Given the description of an element on the screen output the (x, y) to click on. 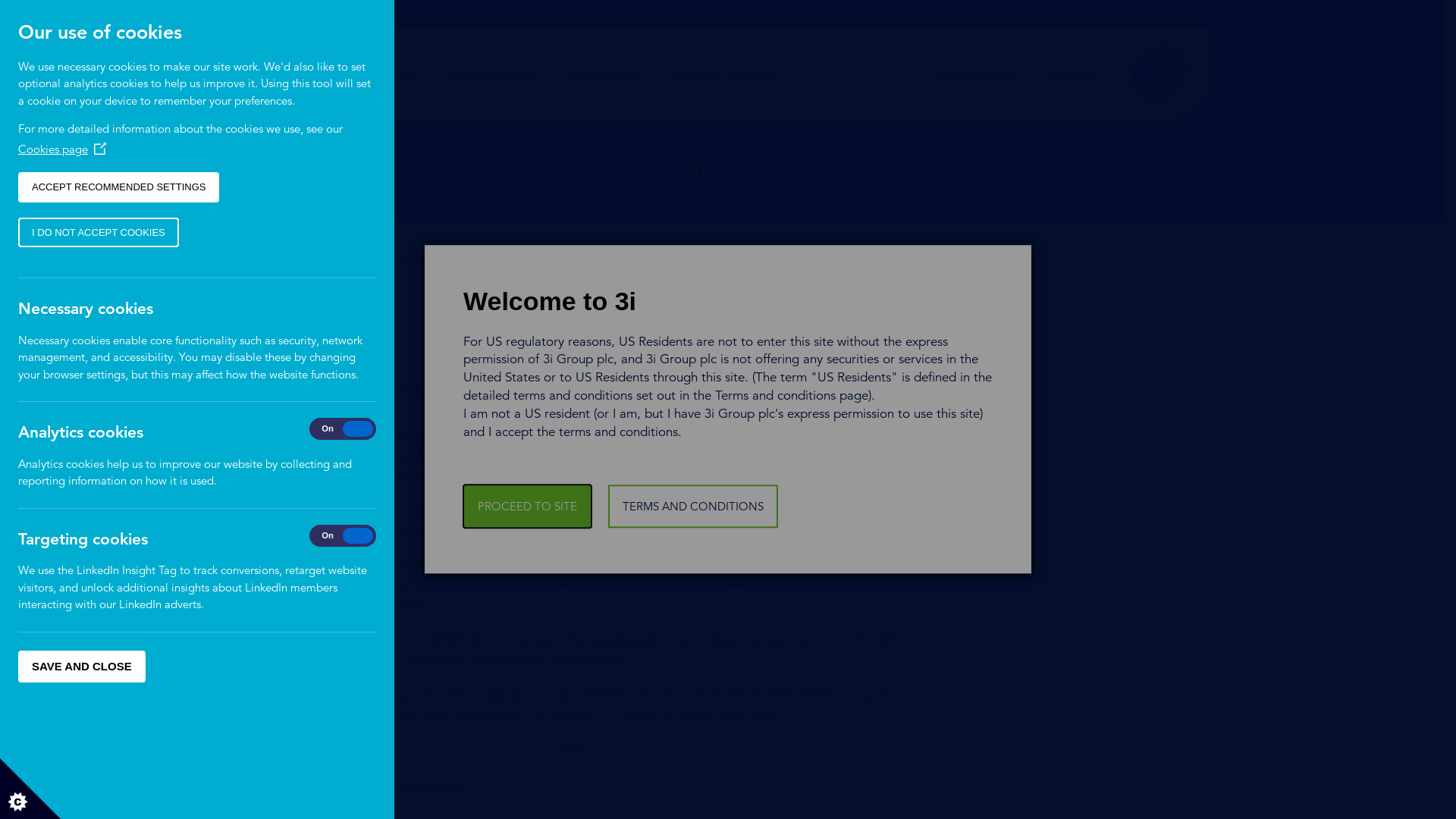
Home Element type: text (244, 257)
Investor relations Element type: text (726, 73)
About us Element type: text (266, 73)
SAVE AND CLOSE Element type: text (81, 666)
Download this press release as PDF Element type: text (357, 787)
PROCEED TO SITE Element type: text (527, 505)
Sustainability Element type: text (972, 73)
Media centre Element type: text (856, 73)
Our people Element type: text (602, 73)
Careers Element type: text (1070, 73)
ACCEPT RECOMMENDED SETTINGS Element type: text (118, 187)
Media centre Element type: text (325, 257)
Private Equity Element type: text (371, 73)
Infrastructure Element type: text (491, 73)
Corporate and portfolio news Element type: text (468, 257)
TERMS AND CONDITIONS Element type: text (693, 505)
I DO NOT ACCEPT COOKIES Element type: text (98, 231)
Cookies page
(Opens in a new window) Element type: text (62, 148)
